Given the description of an element on the screen output the (x, y) to click on. 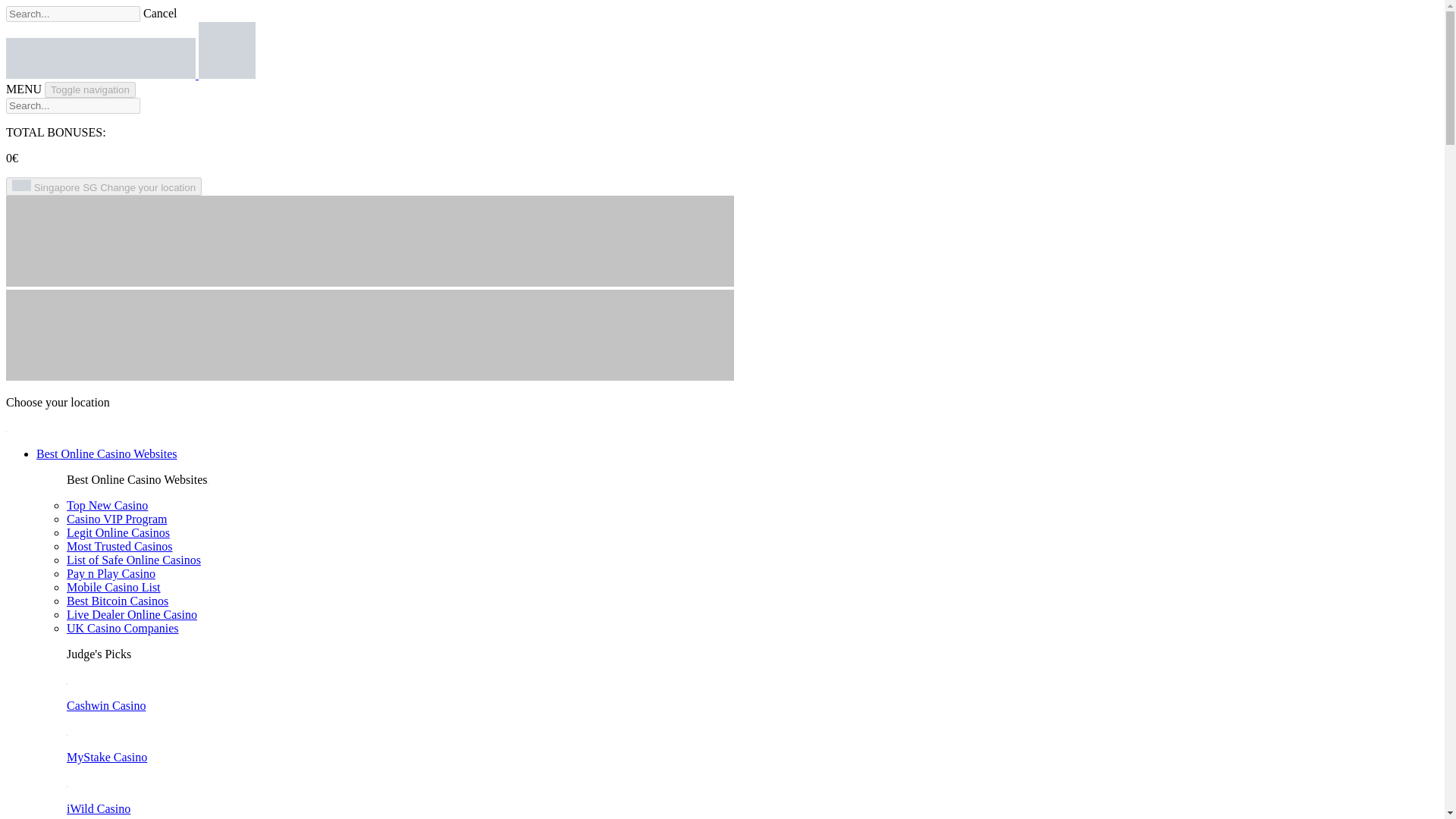
Search Judge Casino (72, 13)
Singapore SG (103, 186)
Toggle navigation (90, 89)
Top New Casino (107, 504)
UK Casino Companies (122, 627)
Best Bitcoin Casinos (117, 600)
Most Trusted Casinos (119, 545)
Pay n Play Casino (110, 573)
Legit Online Casinos (118, 532)
Live Dealer Online Casino (131, 614)
